Given the description of an element on the screen output the (x, y) to click on. 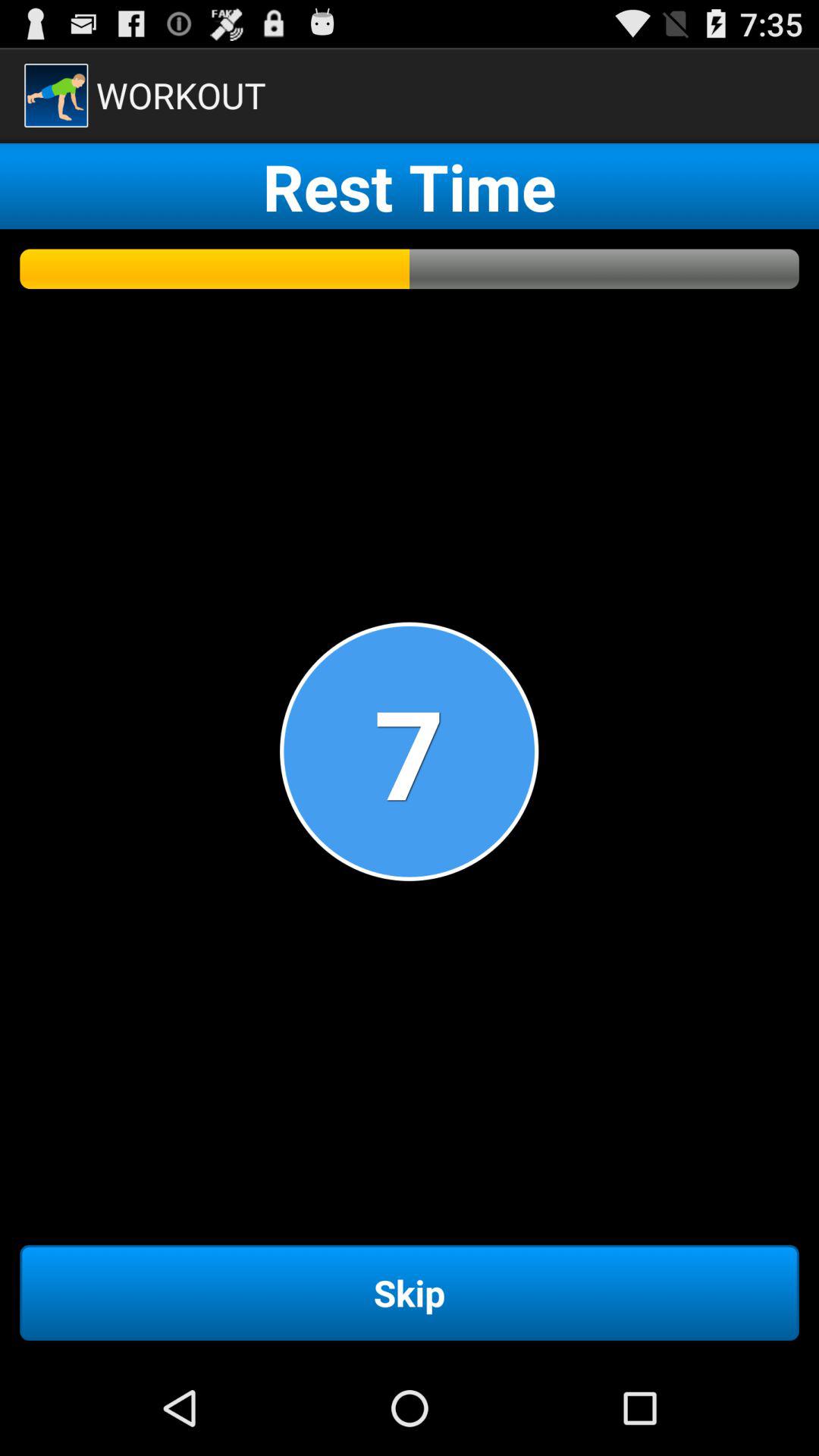
turn on the skip item (409, 1292)
